Given the description of an element on the screen output the (x, y) to click on. 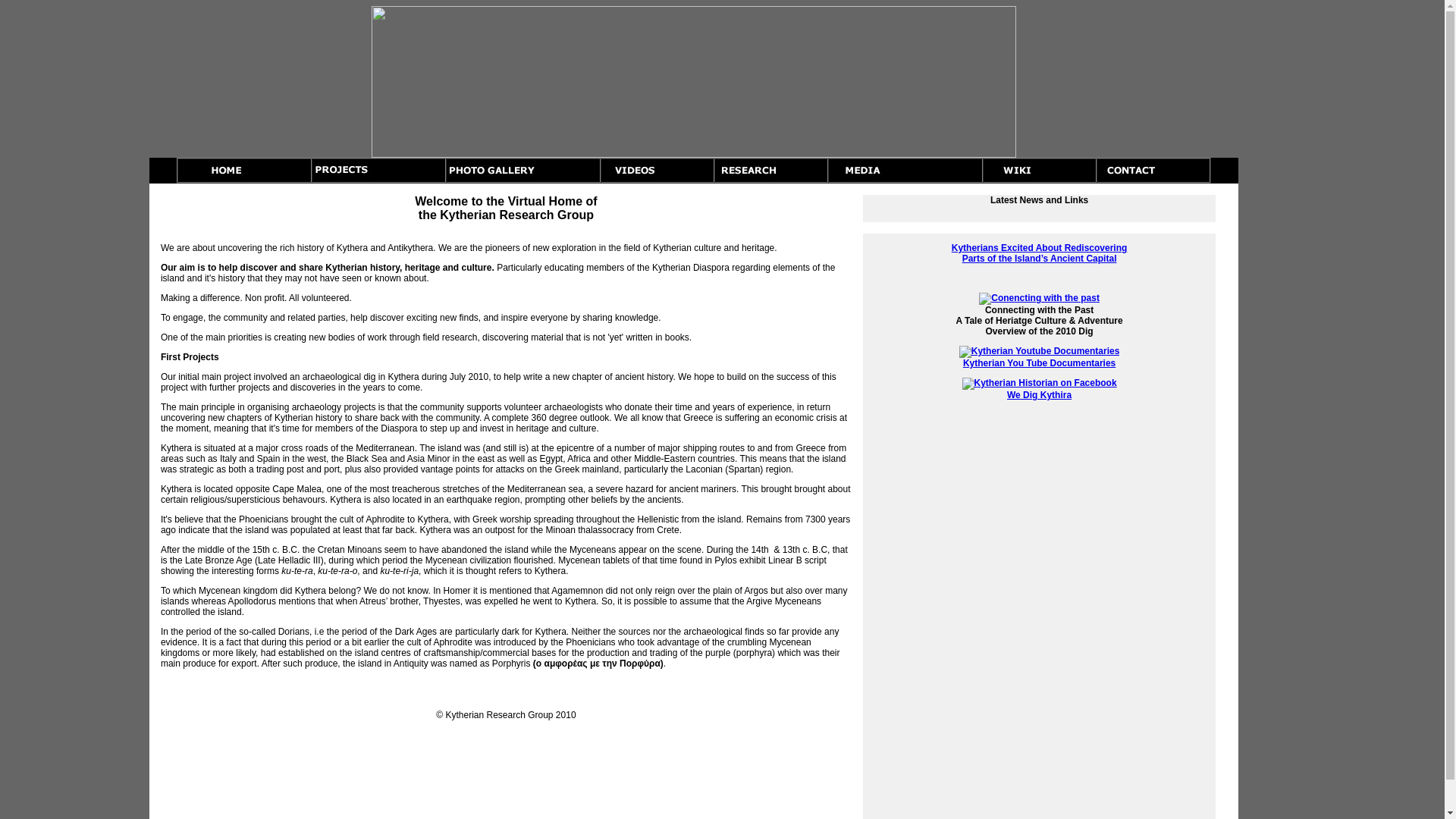
We Dig Kythira Element type: text (1039, 388)
Kytherian You Tube Documentaries Element type: text (1039, 356)
